Given the description of an element on the screen output the (x, y) to click on. 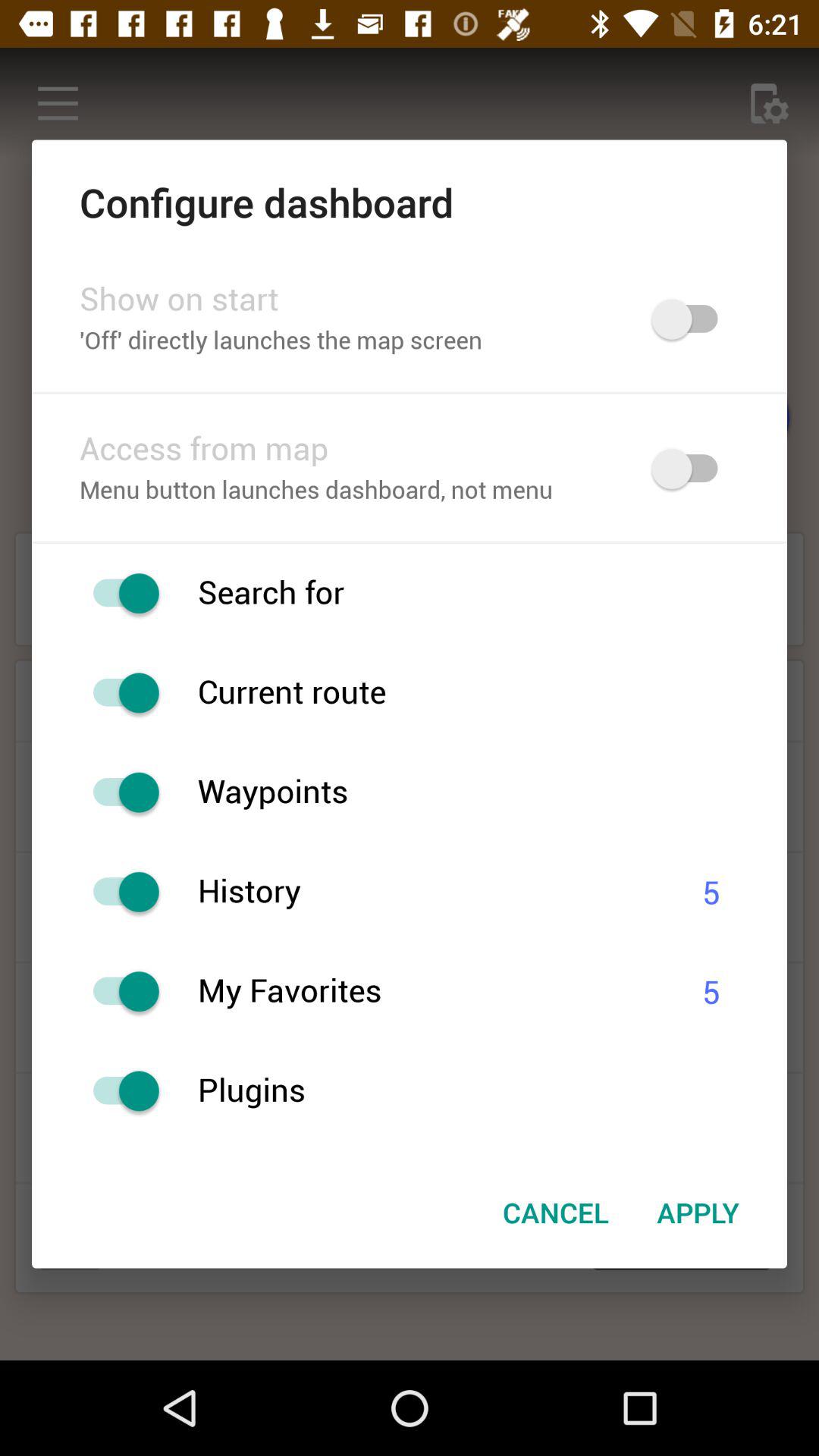
turn off the plugins (492, 1090)
